Given the description of an element on the screen output the (x, y) to click on. 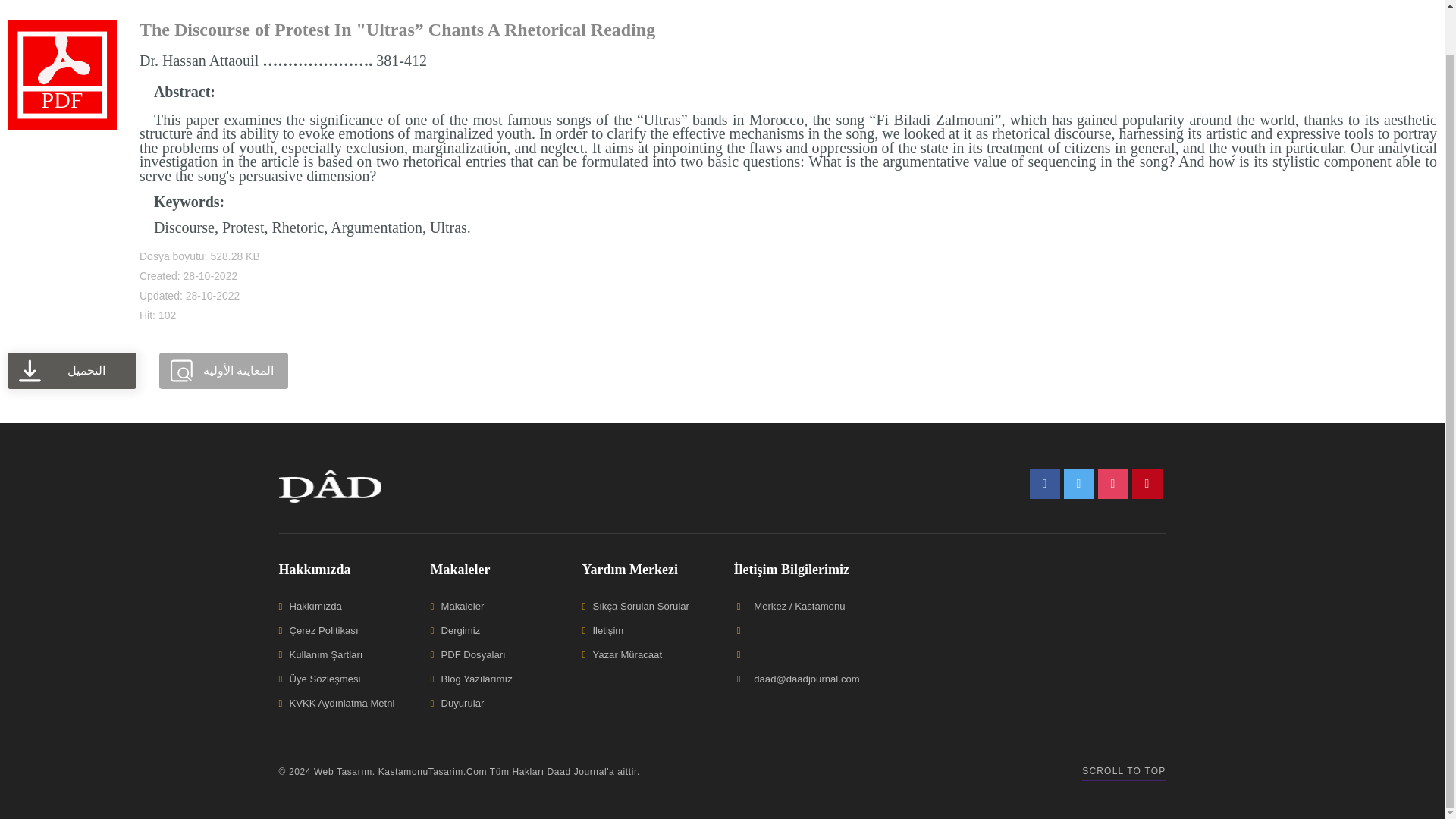
Pinterest (1146, 483)
Twitter (1077, 483)
Facebook (1044, 483)
SCROLL TO TOP (1123, 771)
Instagram (1112, 483)
Kurullar (531, 6)
Ana Sayfa (283, 6)
Log In (1406, 6)
